Given the description of an element on the screen output the (x, y) to click on. 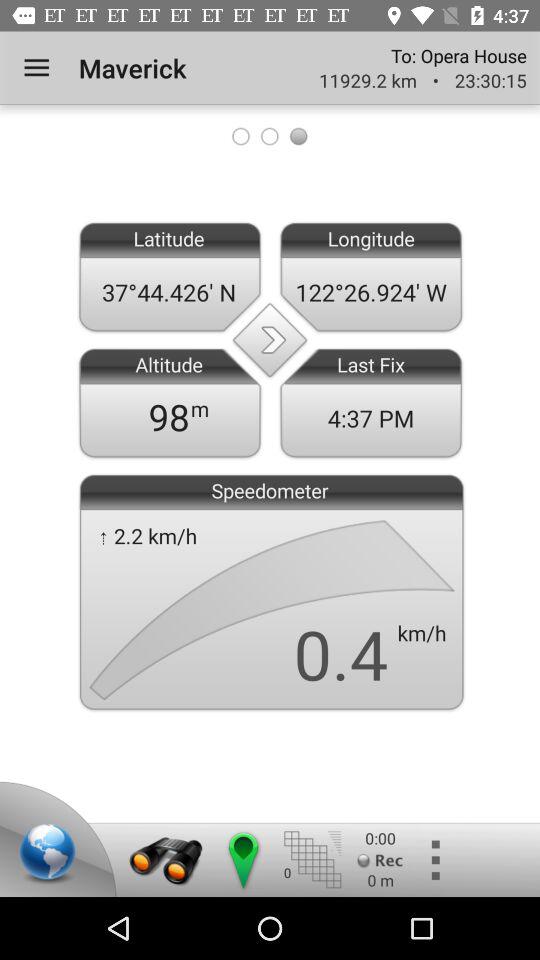
more options (434, 860)
